Given the description of an element on the screen output the (x, y) to click on. 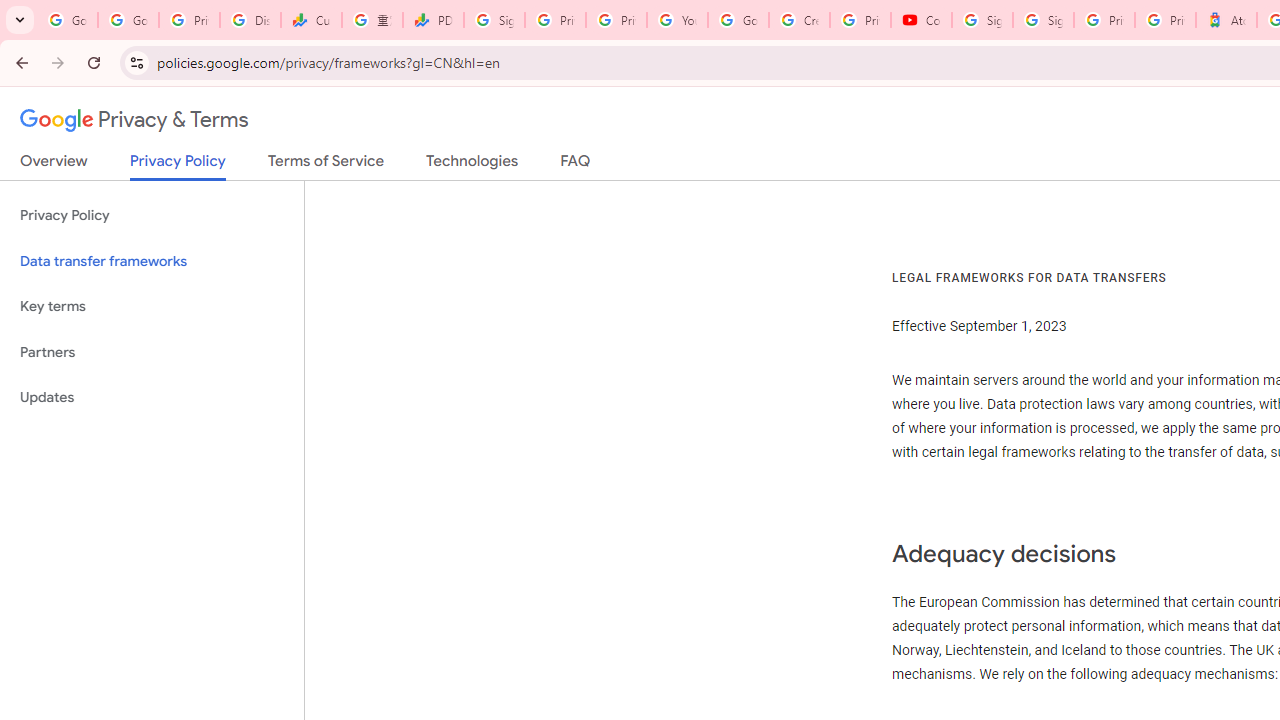
Google Workspace Admin Community (67, 20)
Privacy Checkup (616, 20)
PDD Holdings Inc - ADR (PDD) Price & News - Google Finance (433, 20)
